Given the description of an element on the screen output the (x, y) to click on. 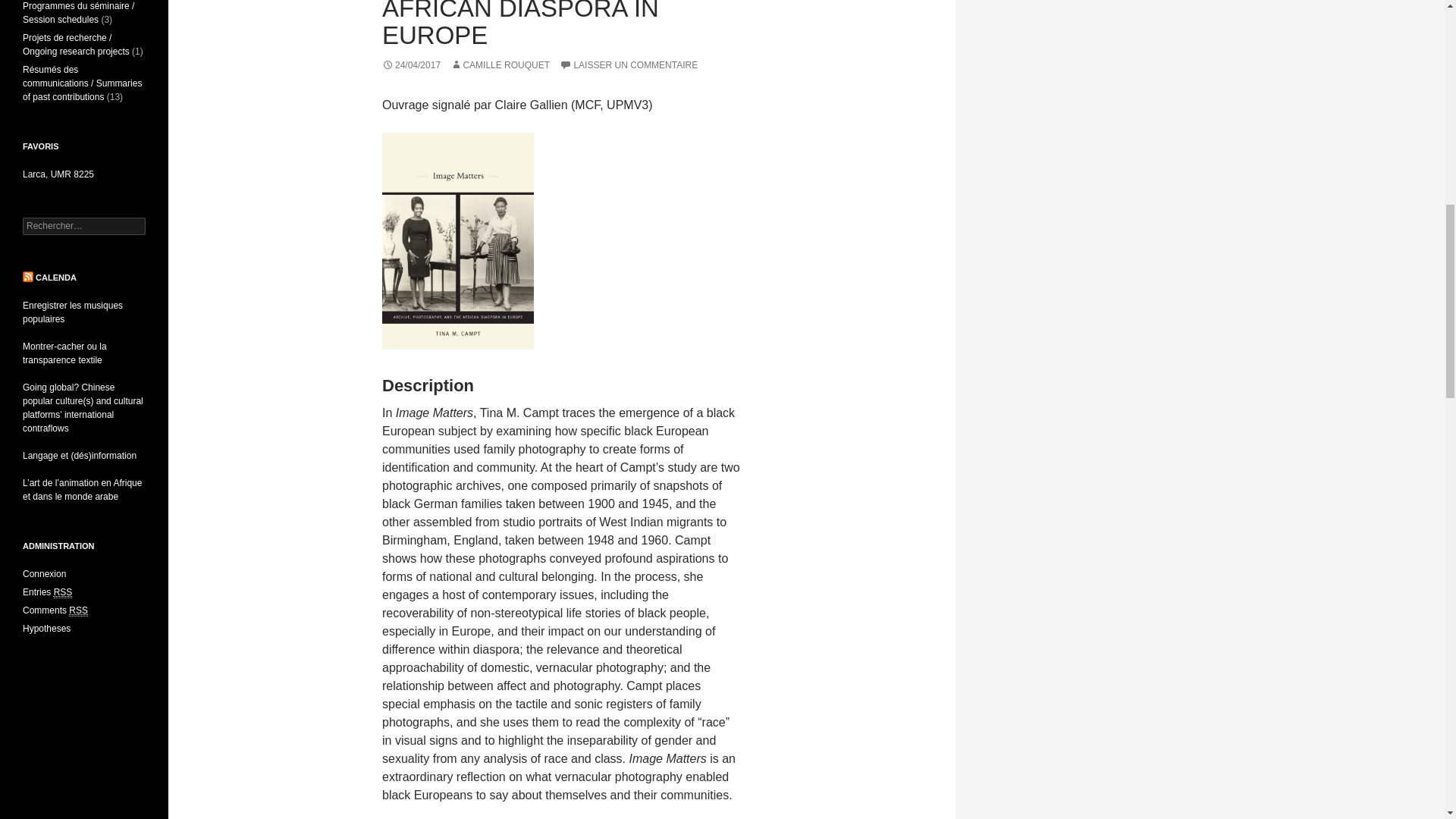
Powered by Hypotheses (46, 628)
LAISSER UN COMMENTAIRE (628, 64)
Really Simple Syndication (62, 592)
Syndicate this site using RSS 2.0 (47, 592)
CAMILLE ROUQUET (499, 64)
The latest comments to all posts in RSS (55, 610)
Really Simple Syndication (77, 610)
